Given the description of an element on the screen output the (x, y) to click on. 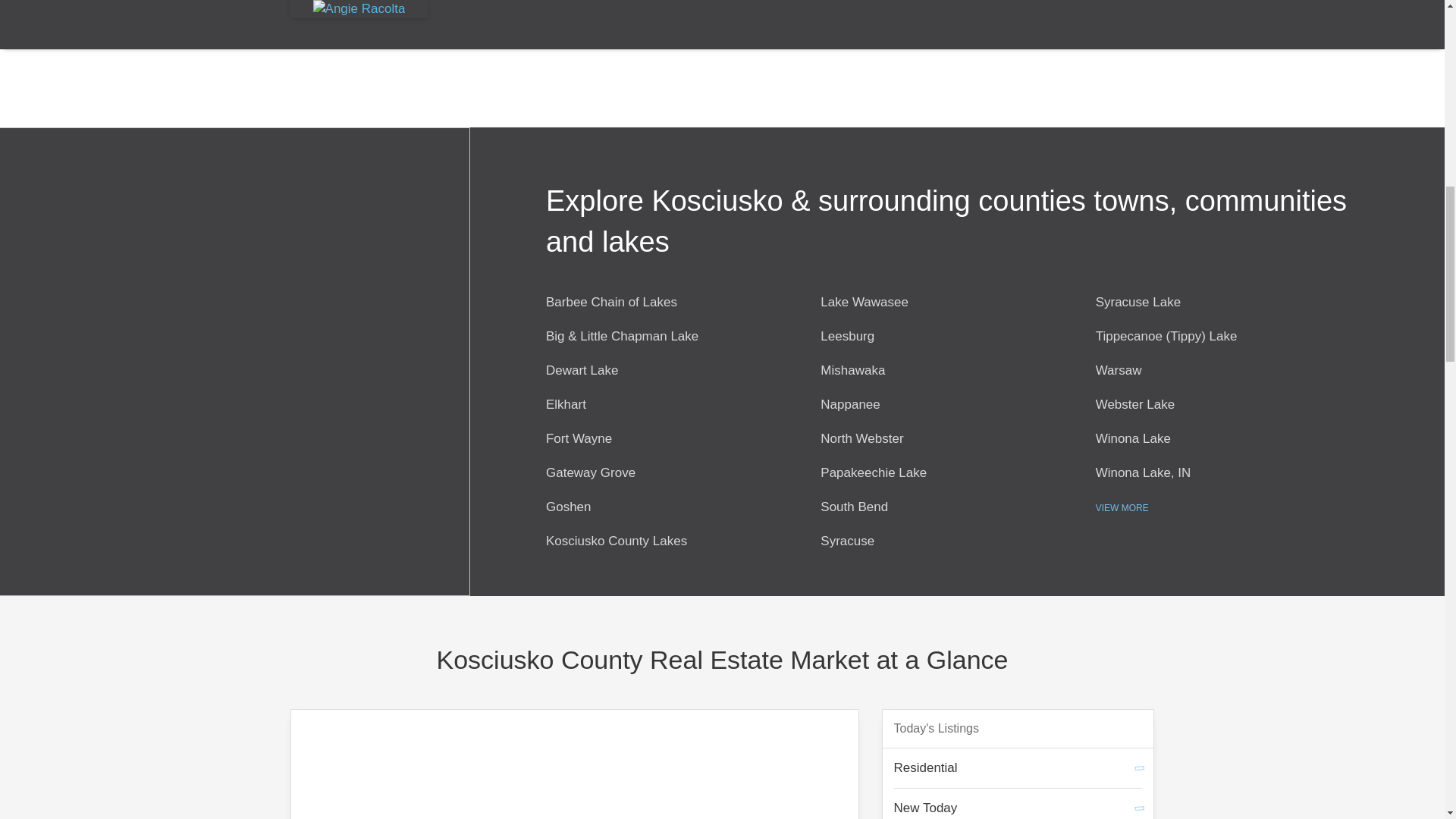
View Barbee Chain of Lakes (611, 301)
View Elkhart (566, 404)
View Gateway Grove (590, 472)
View Goshen (568, 506)
View Dewart Lake (581, 370)
View Fort Wayne (578, 438)
